Given the description of an element on the screen output the (x, y) to click on. 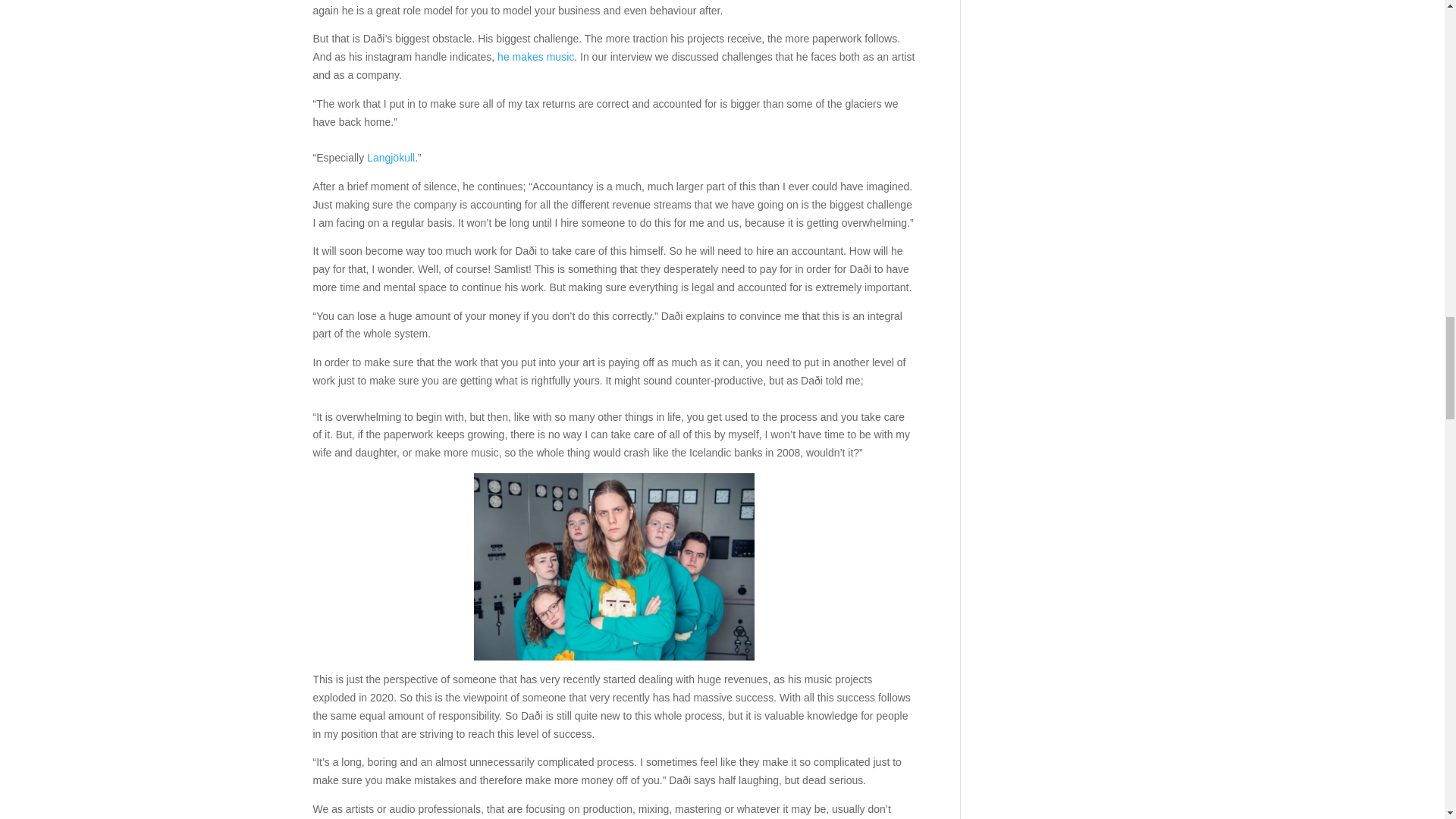
he makes music (535, 56)
